Given the description of an element on the screen output the (x, y) to click on. 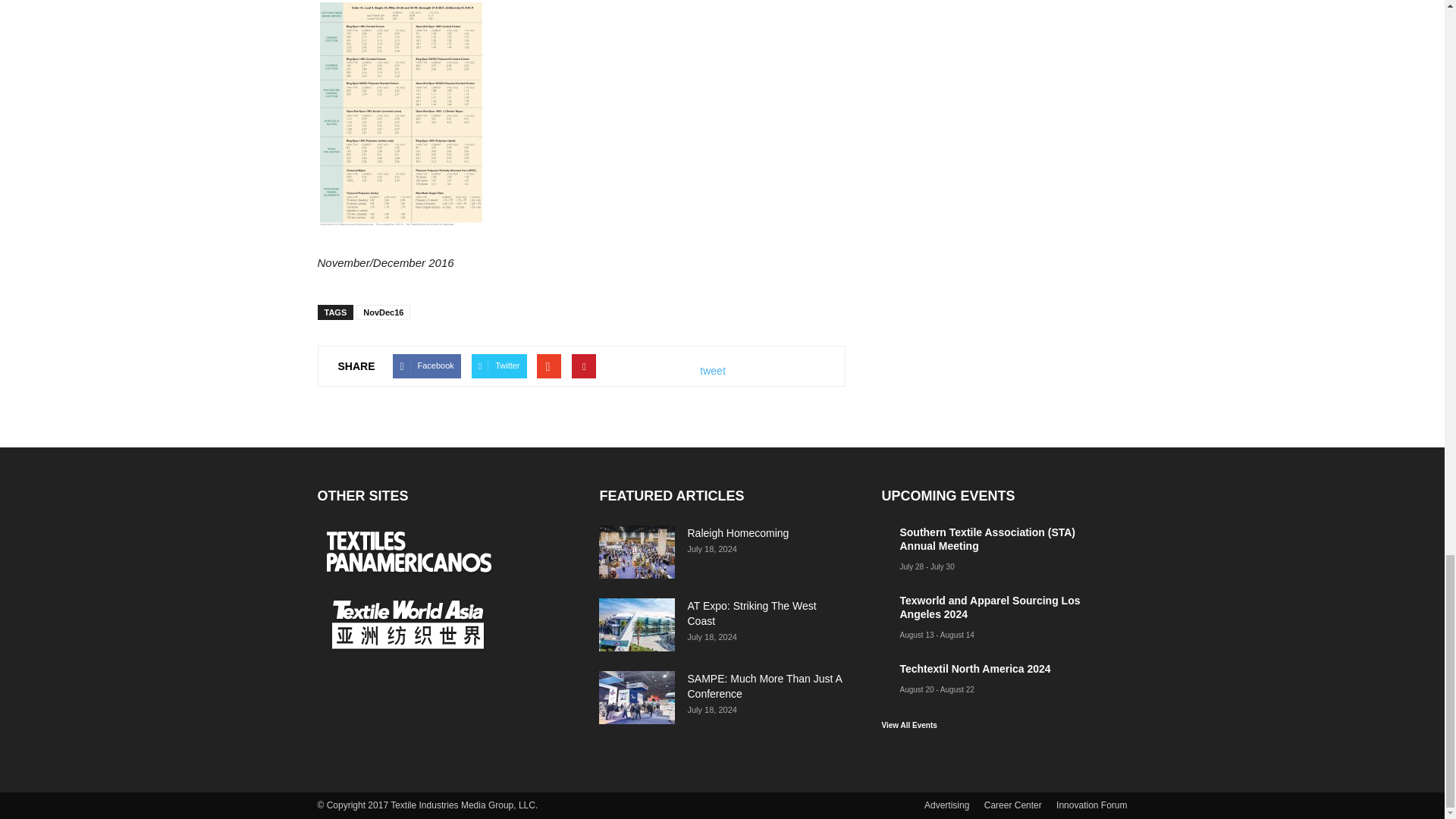
AT Expo: Striking The West Coast (636, 624)
AT Expo: Striking The West Coast (751, 613)
SAMPE: Much More Than Just A Conference (636, 696)
